Given the description of an element on the screen output the (x, y) to click on. 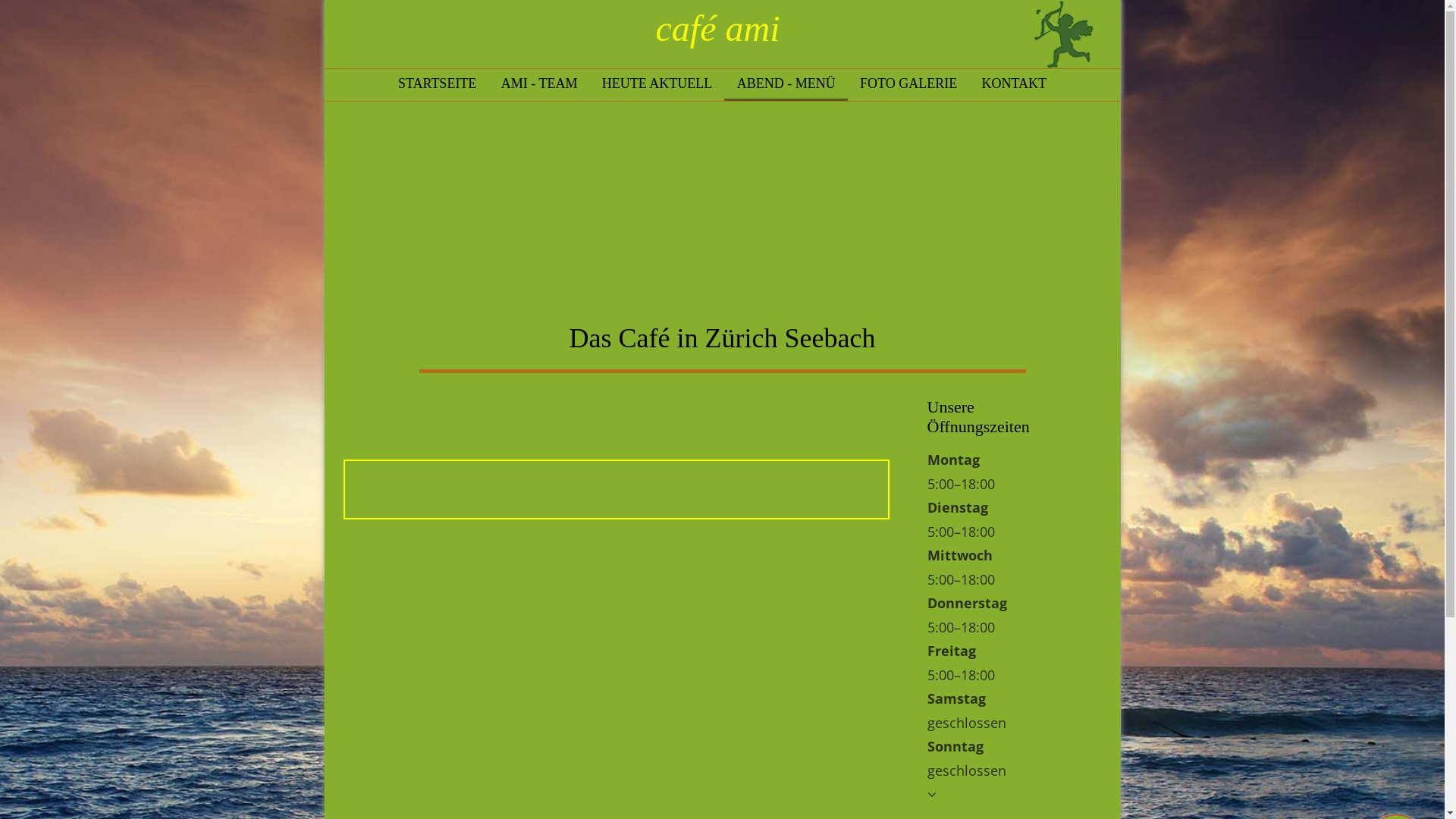
KONTAKT Element type: text (1013, 83)
FOTO GALERIE Element type: text (908, 83)
STARTSEITE Element type: text (437, 83)
HEUTE AKTUELL Element type: text (656, 83)
AMI - TEAM Element type: text (539, 83)
